Given the description of an element on the screen output the (x, y) to click on. 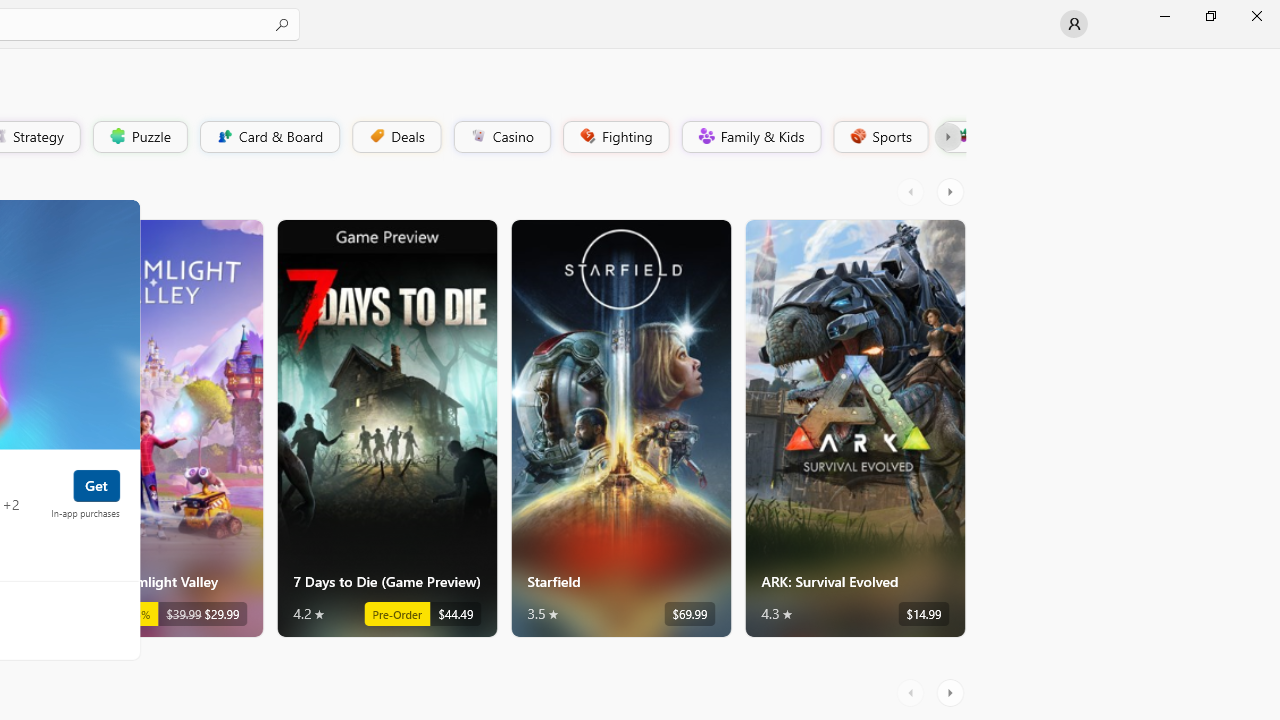
Family & Kids (750, 136)
Deals (395, 136)
Platformer (952, 136)
Puzzle (139, 136)
AutomationID: LeftScrollButton (913, 692)
Class: Image (961, 136)
Card & Board (268, 136)
Sports (879, 136)
Starfield. Average rating of 3.5 out of five stars. $69.99   (620, 427)
Close Microsoft Store (1256, 15)
Class: Button (947, 136)
Casino (501, 136)
Fighting (614, 136)
Restore Microsoft Store (1210, 15)
